Given the description of an element on the screen output the (x, y) to click on. 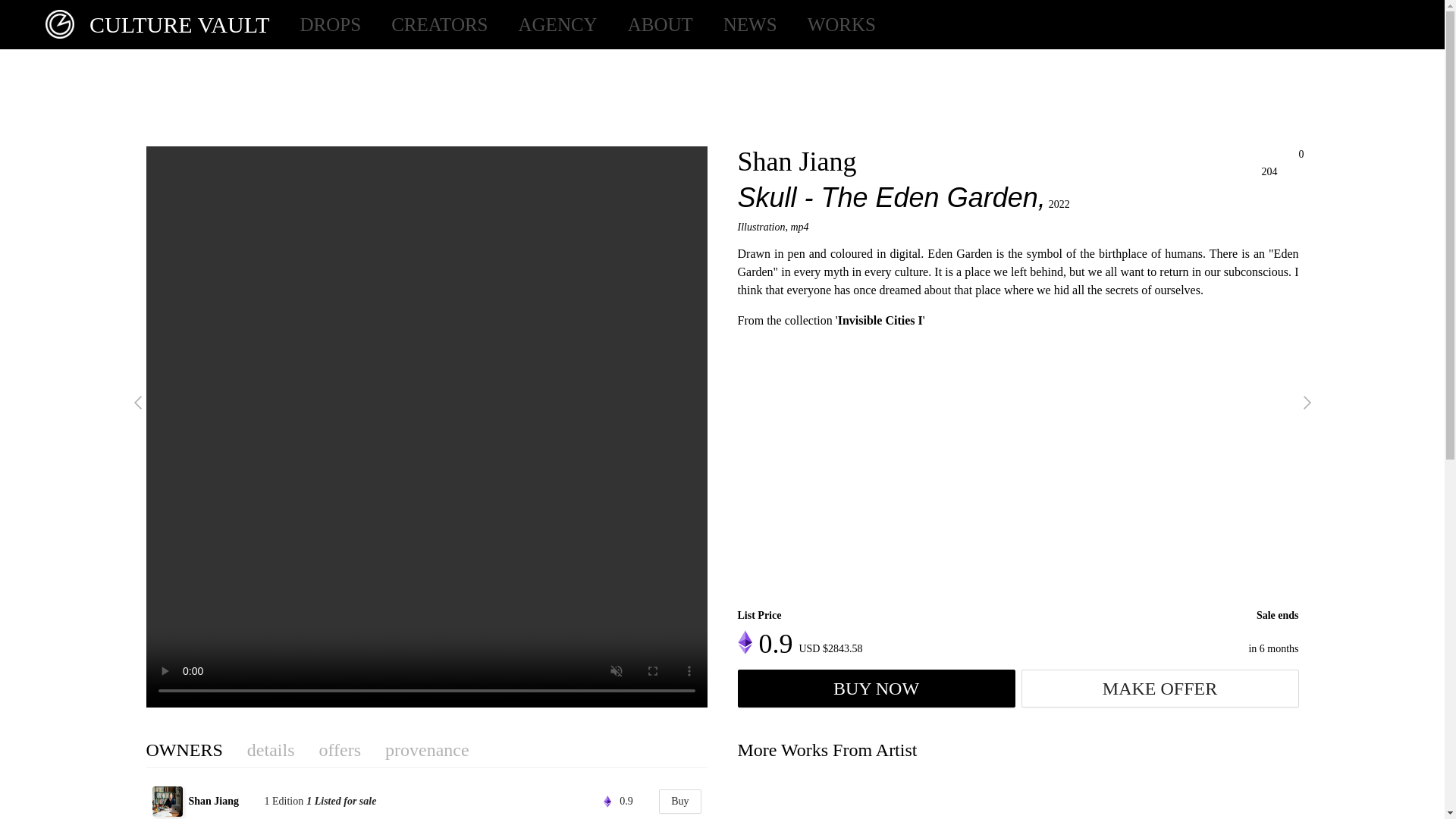
Buy (679, 801)
Shan Jiang (796, 161)
Shan Jiang (223, 801)
CREATORS (439, 24)
NEWS (750, 24)
DROPS (330, 24)
BUY NOW (875, 688)
ABOUT (660, 24)
MAKE OFFER (1159, 688)
CULTURE VAULT (149, 24)
Invisible Cities I (880, 319)
AGENCY (557, 24)
